Given the description of an element on the screen output the (x, y) to click on. 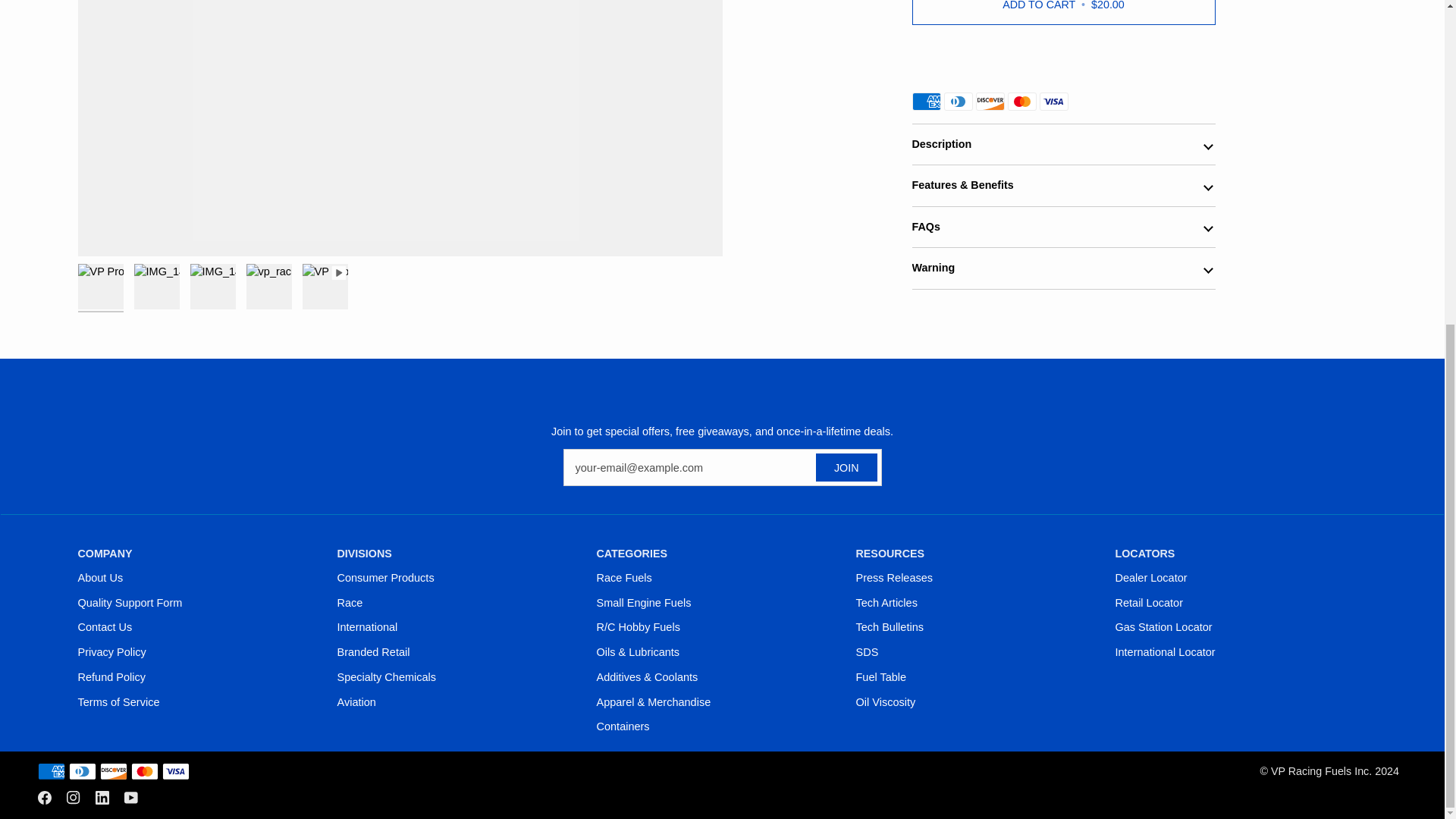
Discover (114, 771)
American Express (51, 771)
YouTube (130, 797)
Diners Club (82, 771)
Facebook (43, 797)
Instagram (73, 797)
Linkedin (102, 797)
Mastercard (144, 771)
Visa (175, 771)
